Given the description of an element on the screen output the (x, y) to click on. 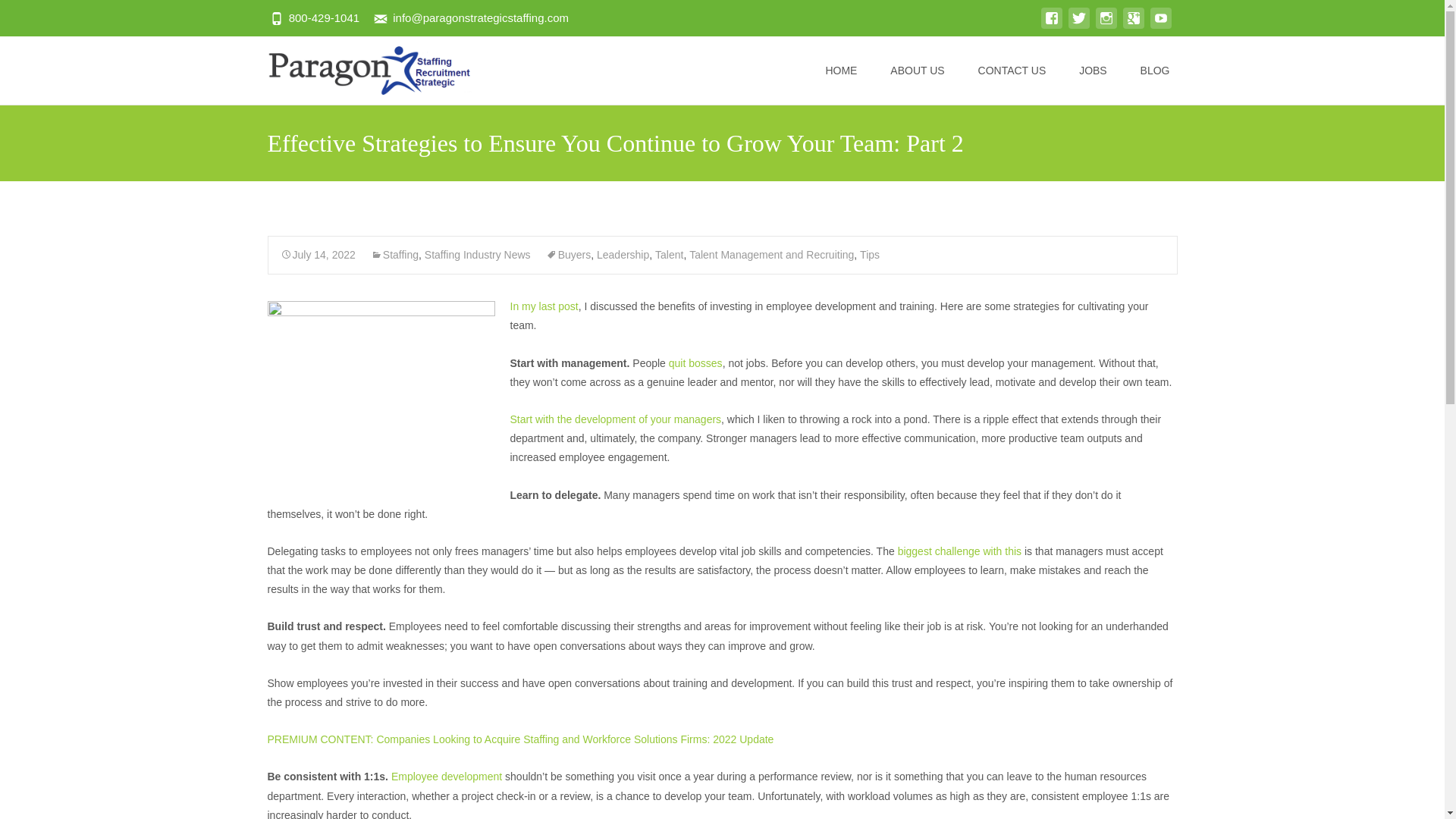
Talent (668, 254)
Buyers (568, 254)
youtube (1160, 25)
July 14, 2022 (318, 254)
Employee development (446, 776)
800-429-1041 (323, 17)
CONTACT US (1012, 70)
Talent Management and Recruiting (770, 254)
Paragon Strategic Staffing (356, 66)
quit bosses (693, 363)
In my last post (543, 306)
instagram (1105, 25)
facebook (1051, 25)
